Given the description of an element on the screen output the (x, y) to click on. 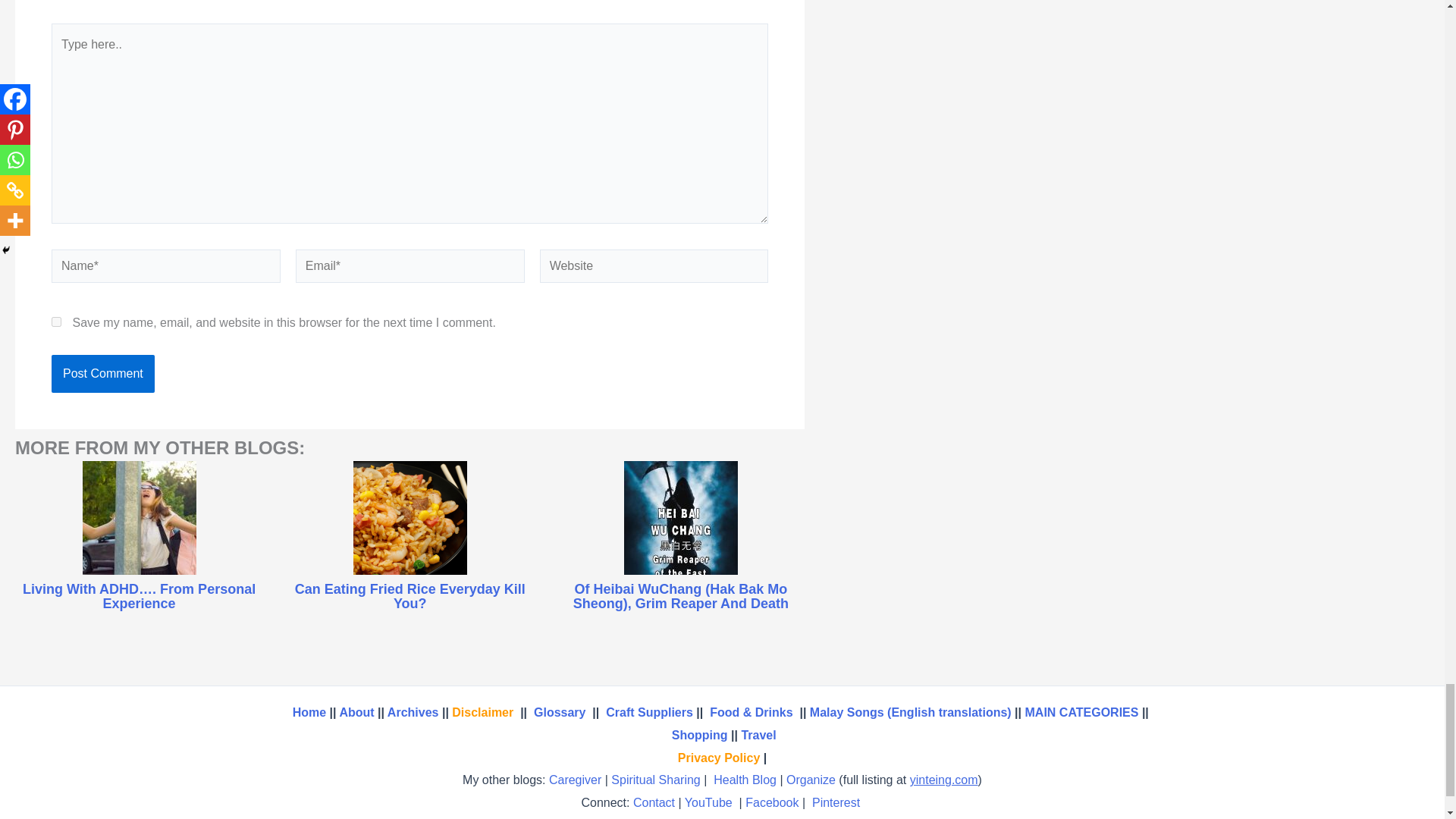
Post Comment (102, 373)
yes (55, 321)
Post Comment (102, 373)
Can Eating Fried Rice Everyday Kill You? (409, 597)
